Given the description of an element on the screen output the (x, y) to click on. 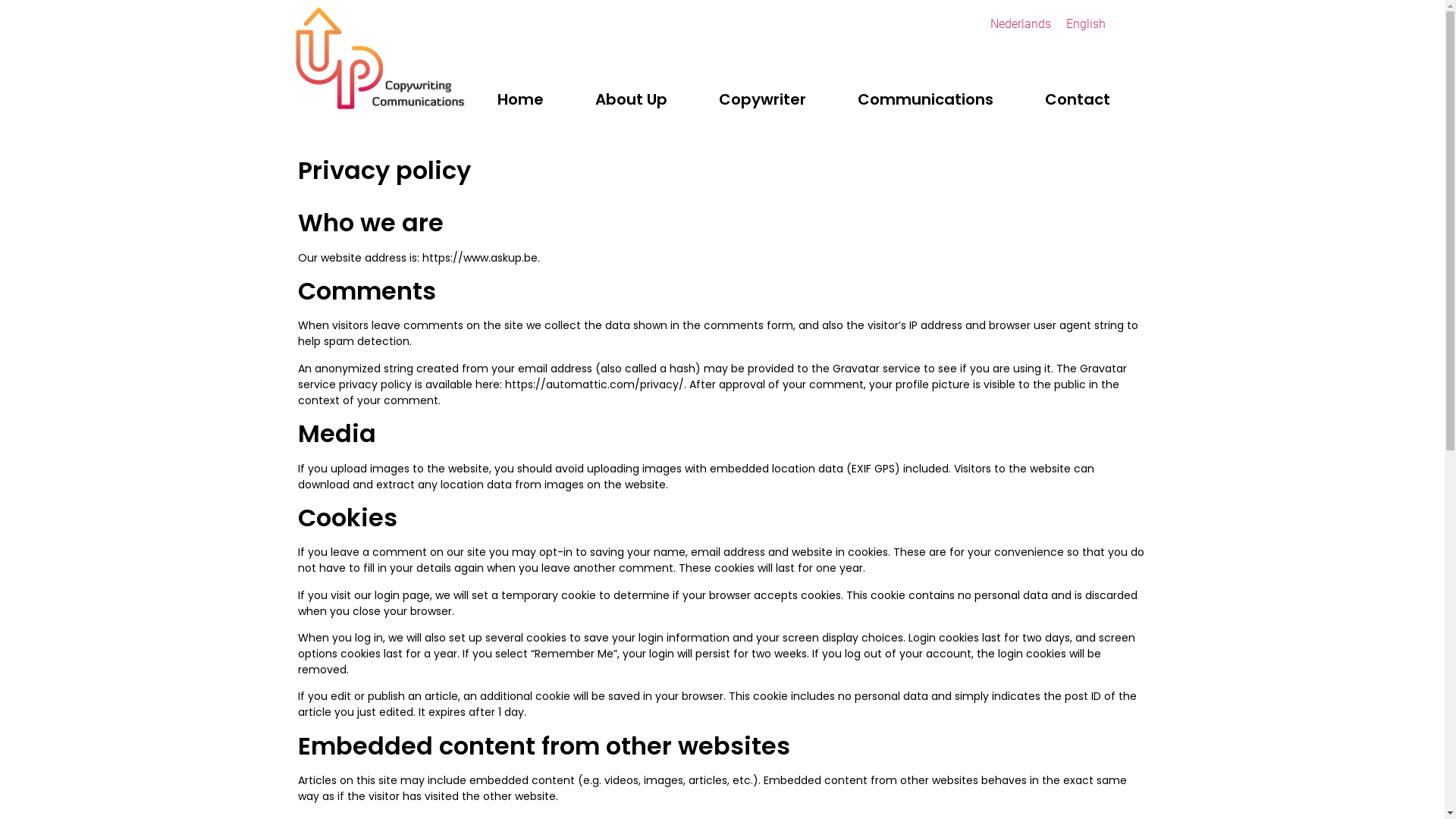
English Element type: text (1085, 23)
Home Element type: text (520, 99)
Nederlands Element type: text (1020, 23)
Communications Element type: text (925, 99)
About Up Element type: text (631, 99)
Contact Element type: text (1077, 99)
Copywriter Element type: text (762, 99)
